Given the description of an element on the screen output the (x, y) to click on. 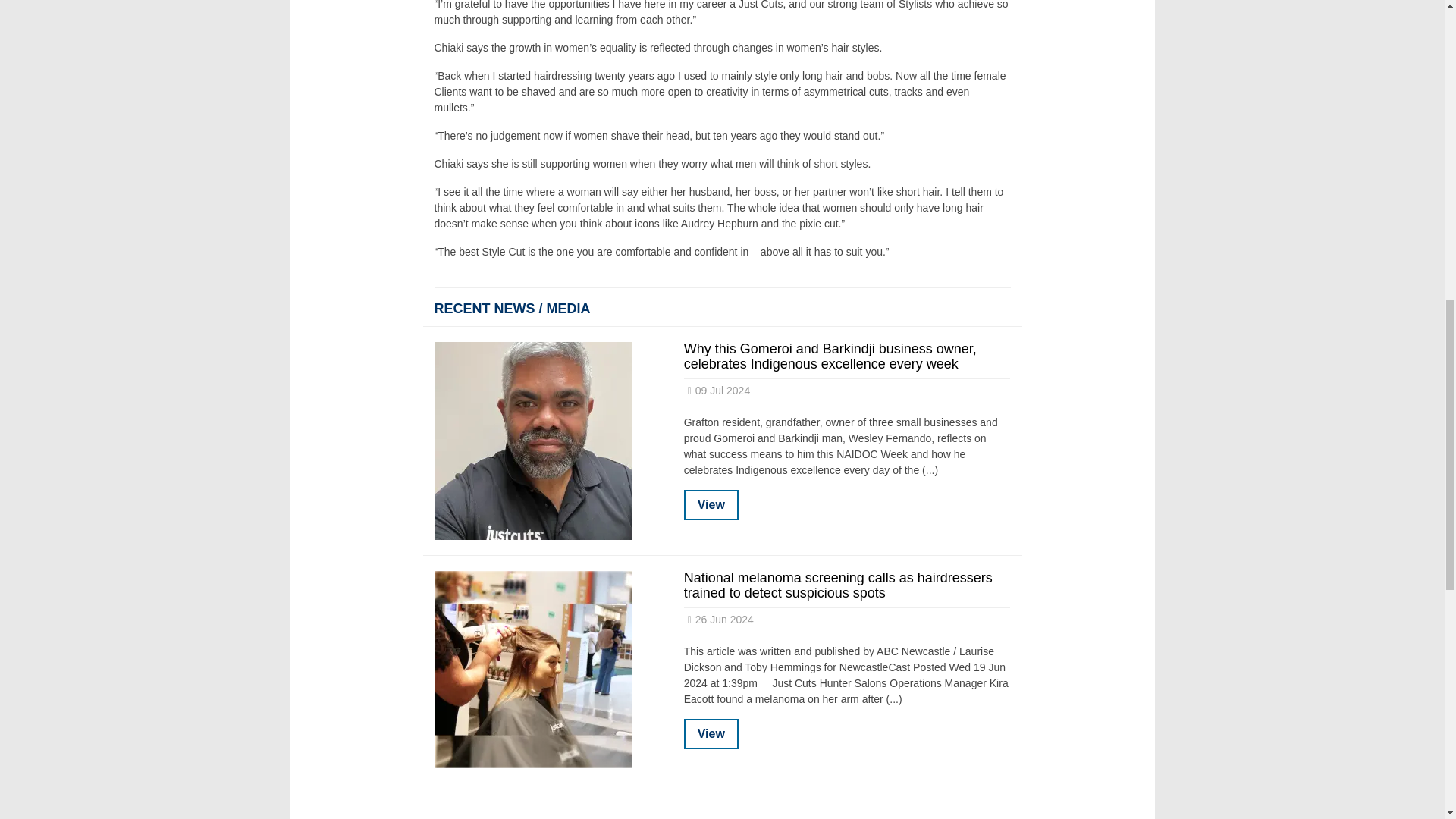
View (711, 504)
View (711, 734)
